Given the description of an element on the screen output the (x, y) to click on. 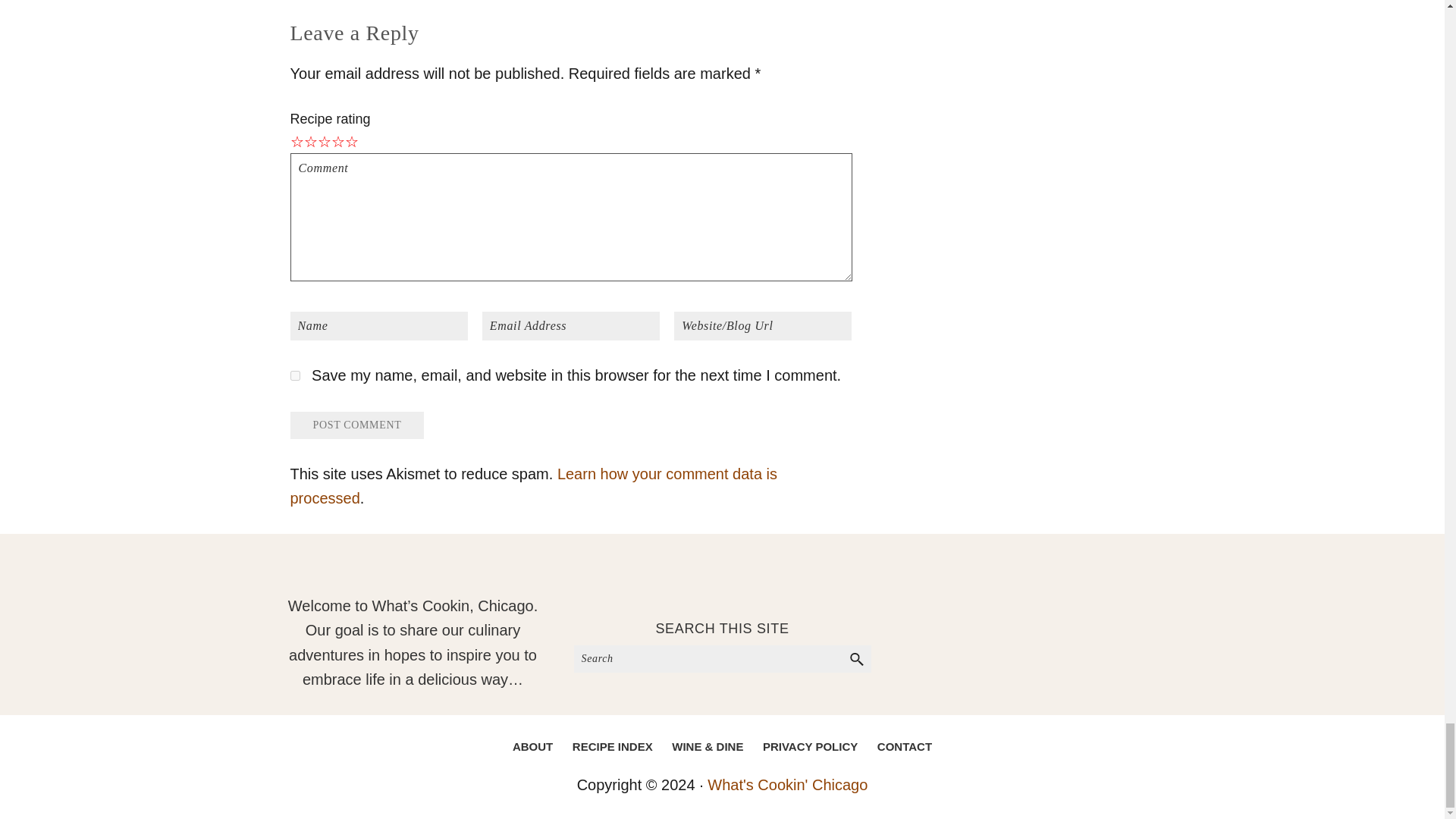
yes (294, 375)
Post Comment (356, 424)
